Given the description of an element on the screen output the (x, y) to click on. 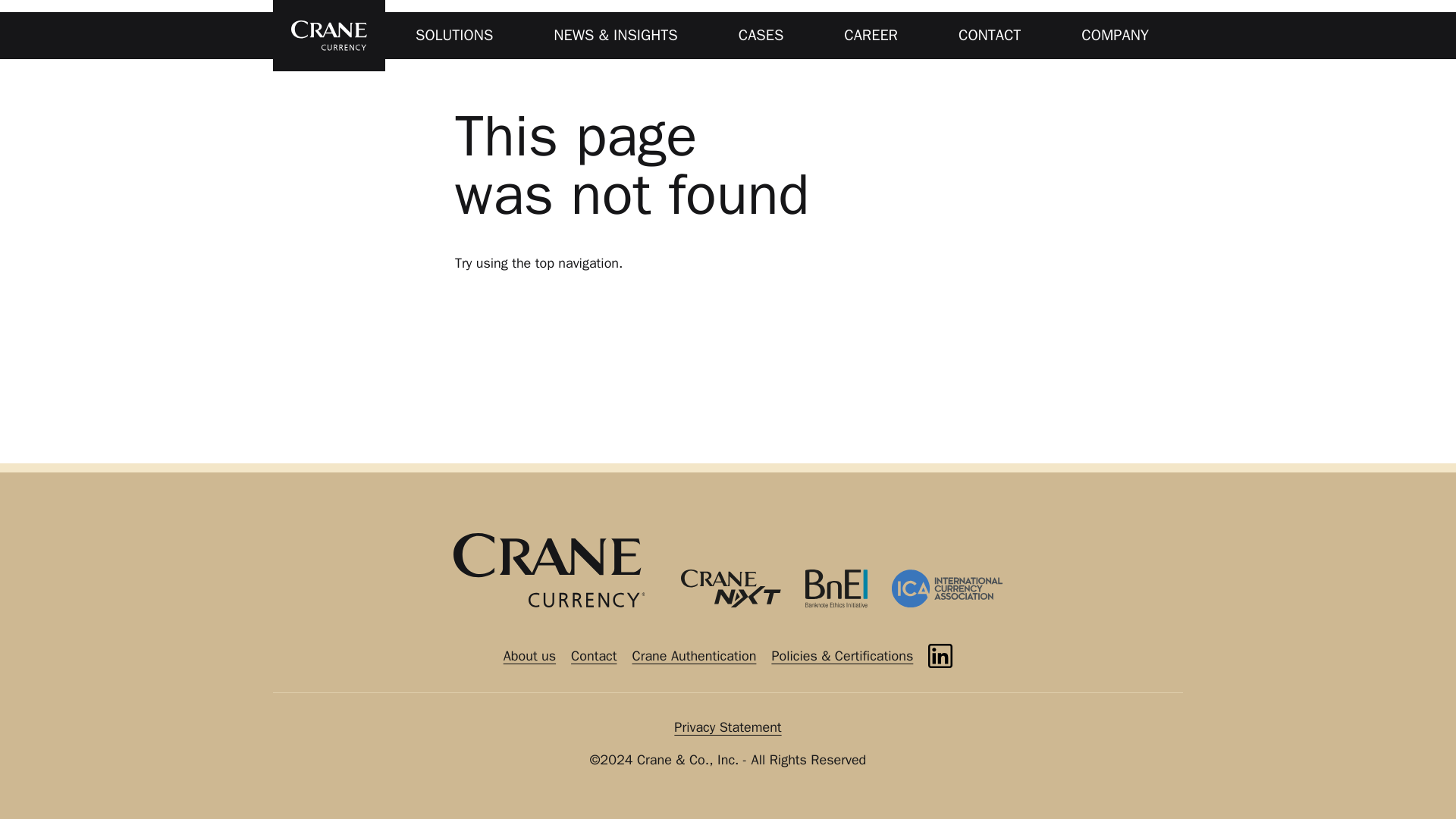
CASES (760, 35)
Contact (592, 655)
SOLUTIONS (453, 35)
Crane Authentication (693, 655)
About us (529, 655)
CAREER (870, 35)
Privacy Statement (727, 727)
COMPANY (1115, 35)
CONTACT (989, 35)
